Given the description of an element on the screen output the (x, y) to click on. 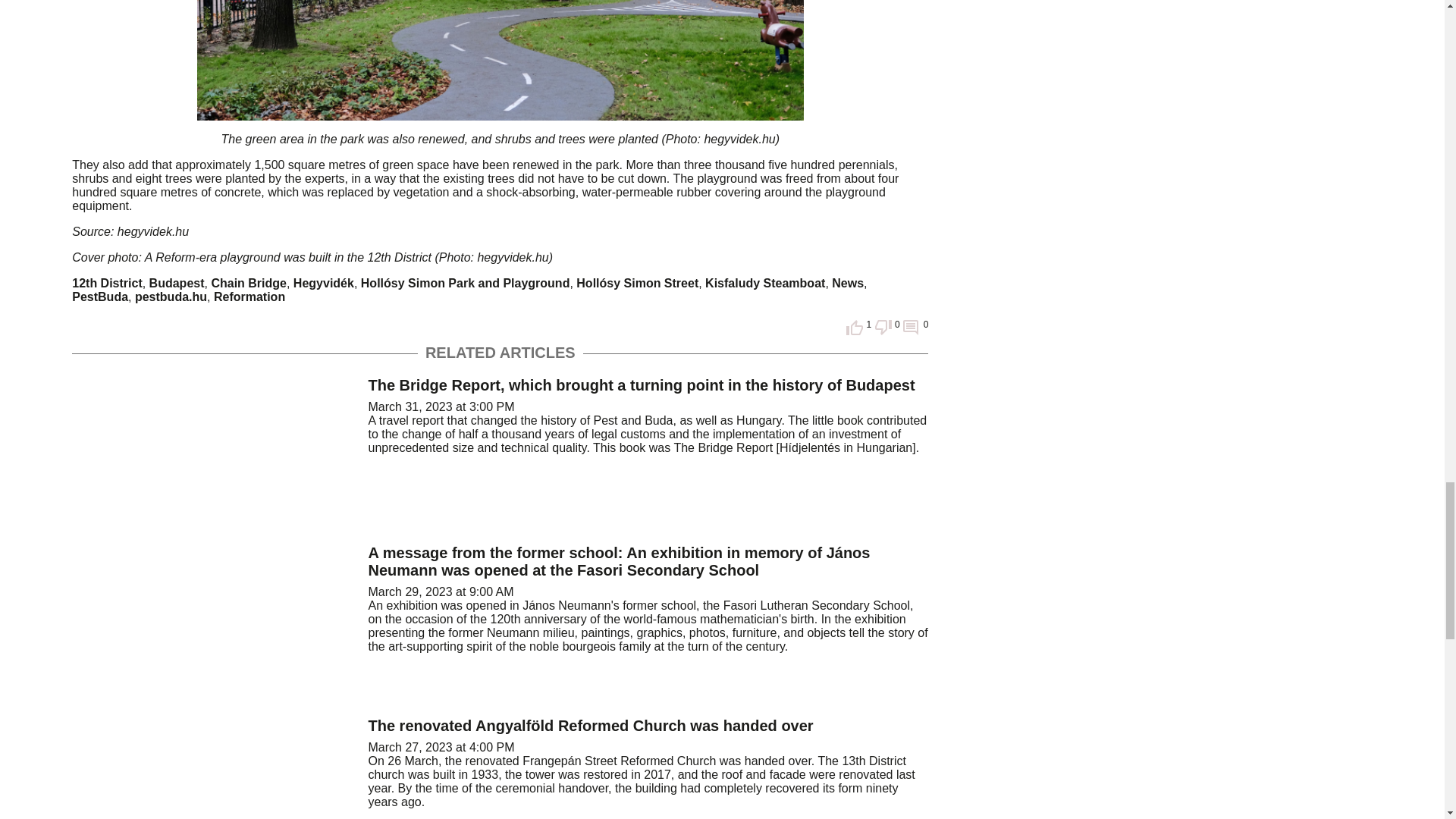
Reformation (249, 296)
1 (857, 330)
PestBuda (99, 296)
News (847, 282)
pestbuda.hu (170, 296)
Chain Bridge (248, 282)
Budapest (177, 282)
Kisfaludy Steamboat (764, 282)
0 (887, 330)
12th District (106, 282)
